Given the description of an element on the screen output the (x, y) to click on. 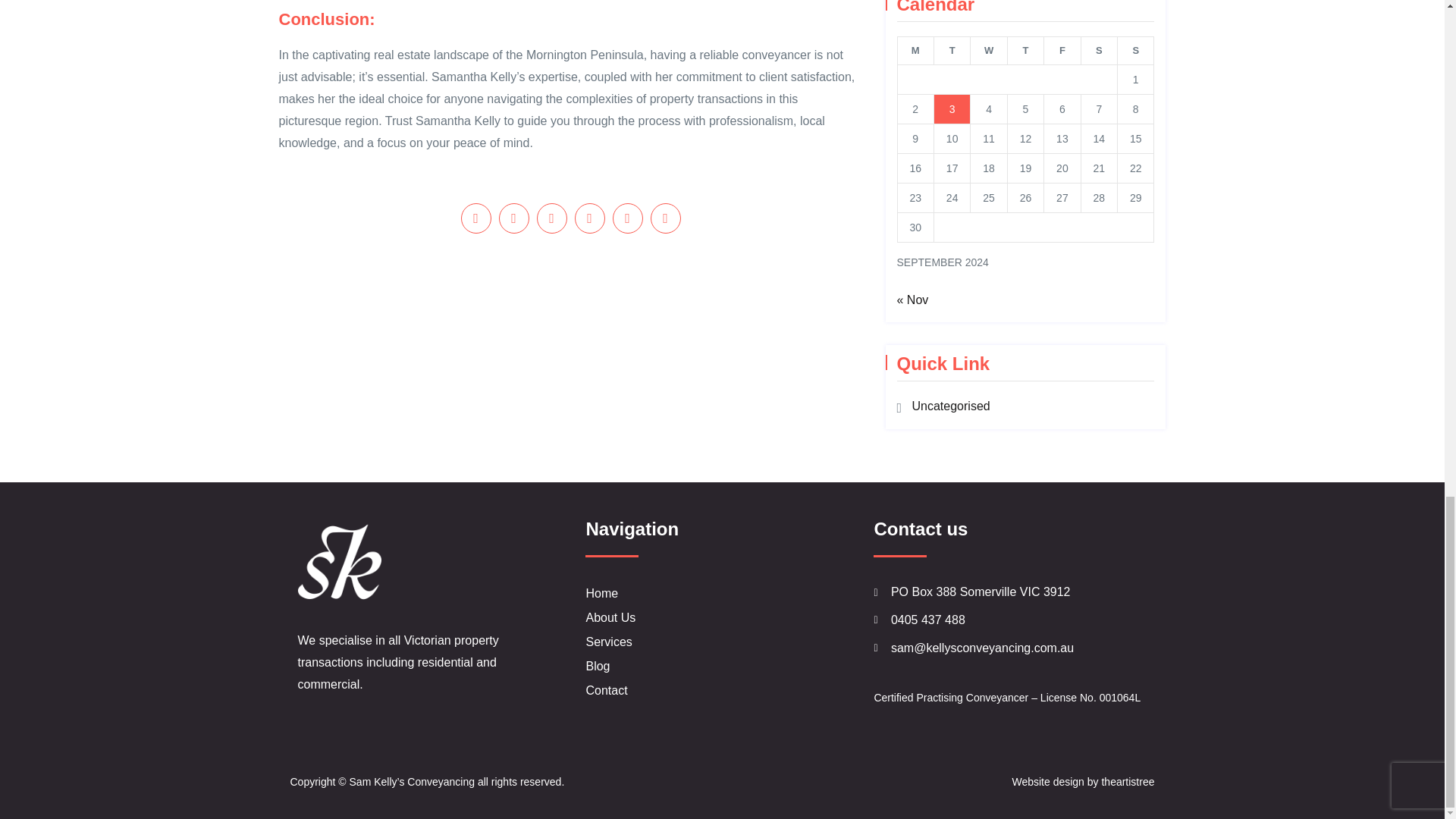
Saturday (1098, 50)
theartistree (1127, 781)
Uncategorised (950, 405)
Services (722, 641)
Blog (722, 666)
Friday (1061, 50)
0405 437 488 (1010, 620)
Thursday (1025, 50)
About Us (722, 617)
Sunday (1136, 50)
